Given the description of an element on the screen output the (x, y) to click on. 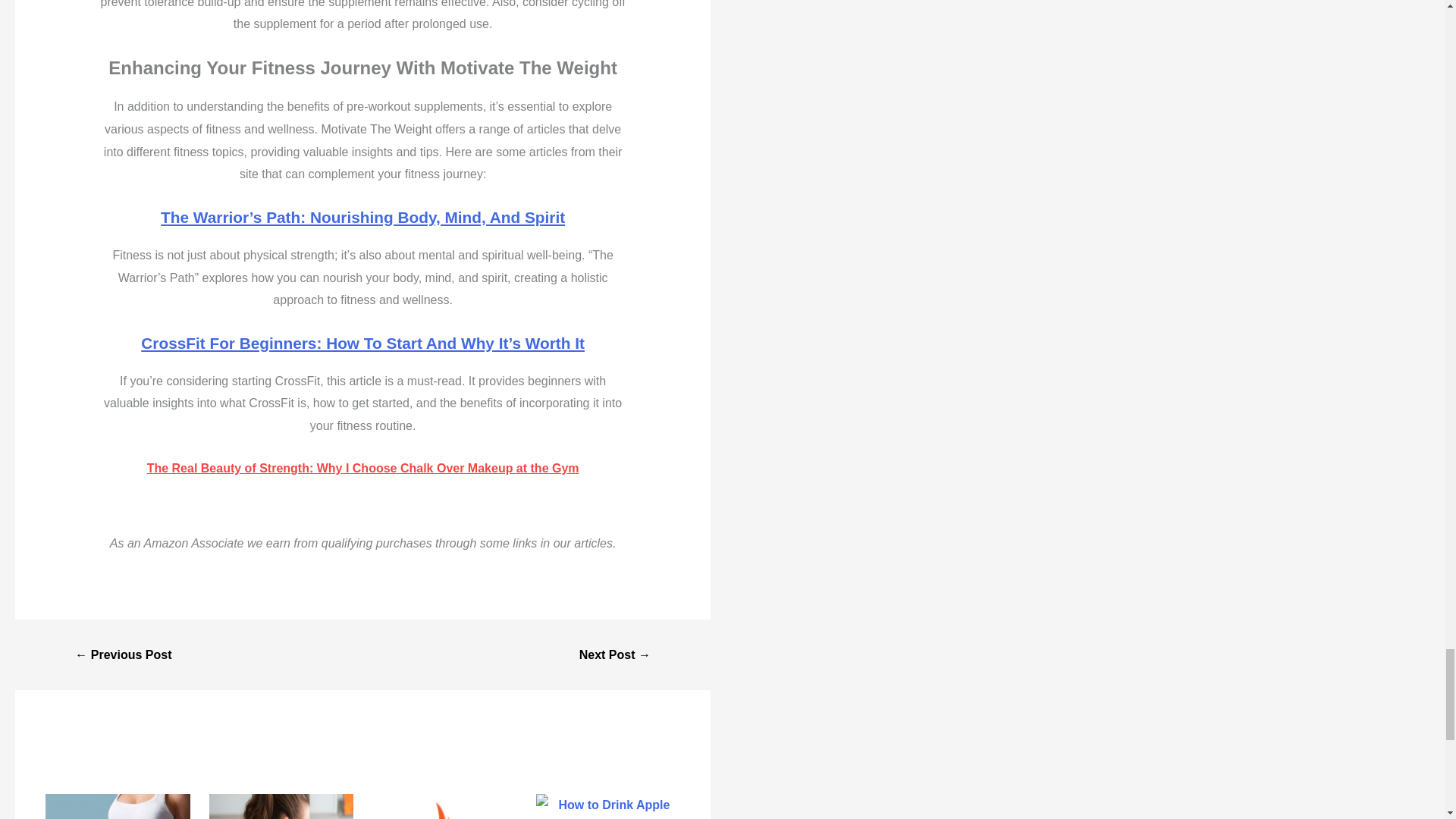
Chrissy Metz's Inspiring Weight Loss Journey (122, 654)
Best Treadmill Workouts for Weight Loss (614, 654)
